Given the description of an element on the screen output the (x, y) to click on. 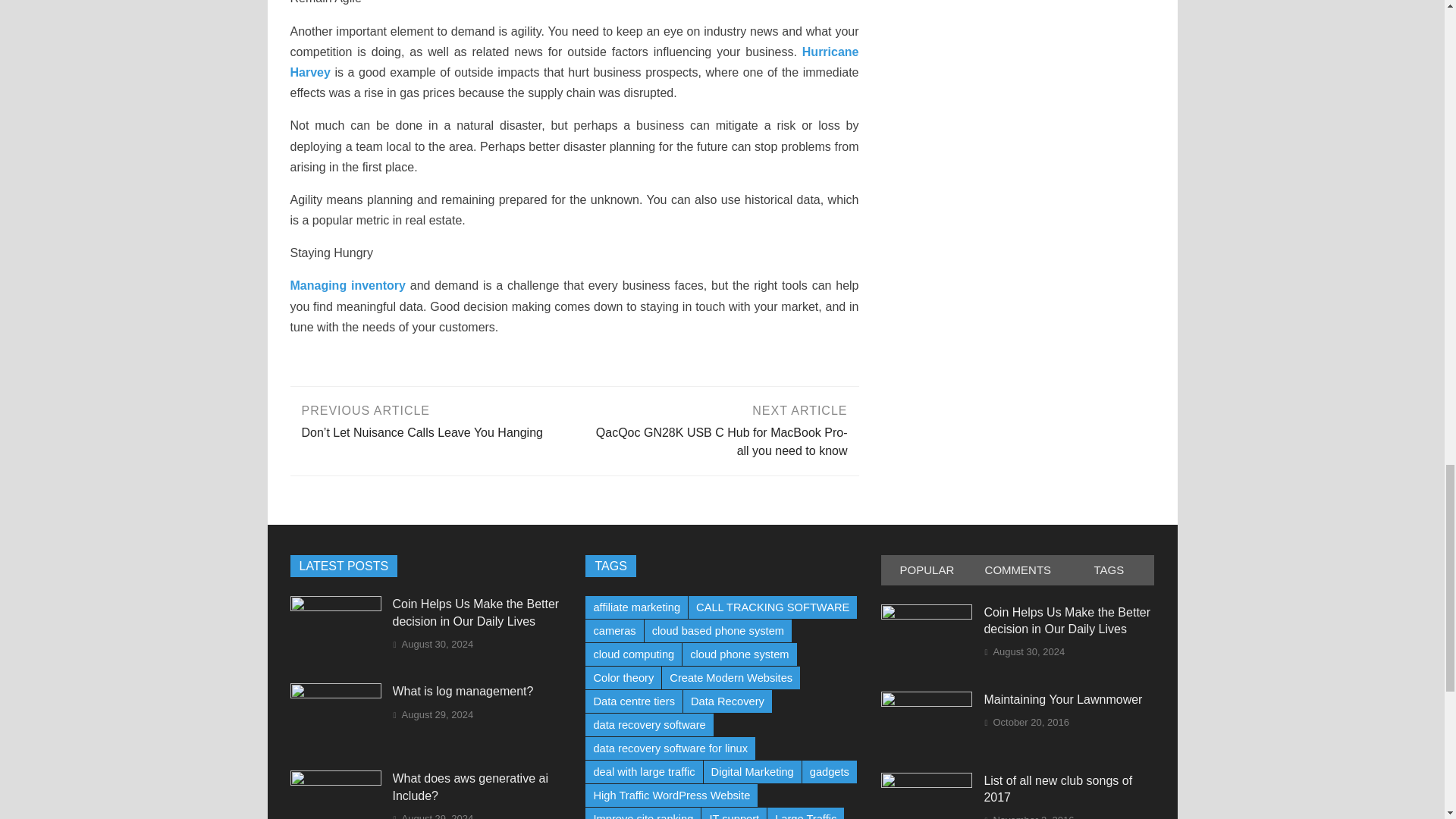
List of all new club songs of 2017 (926, 783)
Managing inventory (346, 285)
Hurricane Harvey (574, 61)
Maintaining Your Lawnmower (926, 702)
